Given the description of an element on the screen output the (x, y) to click on. 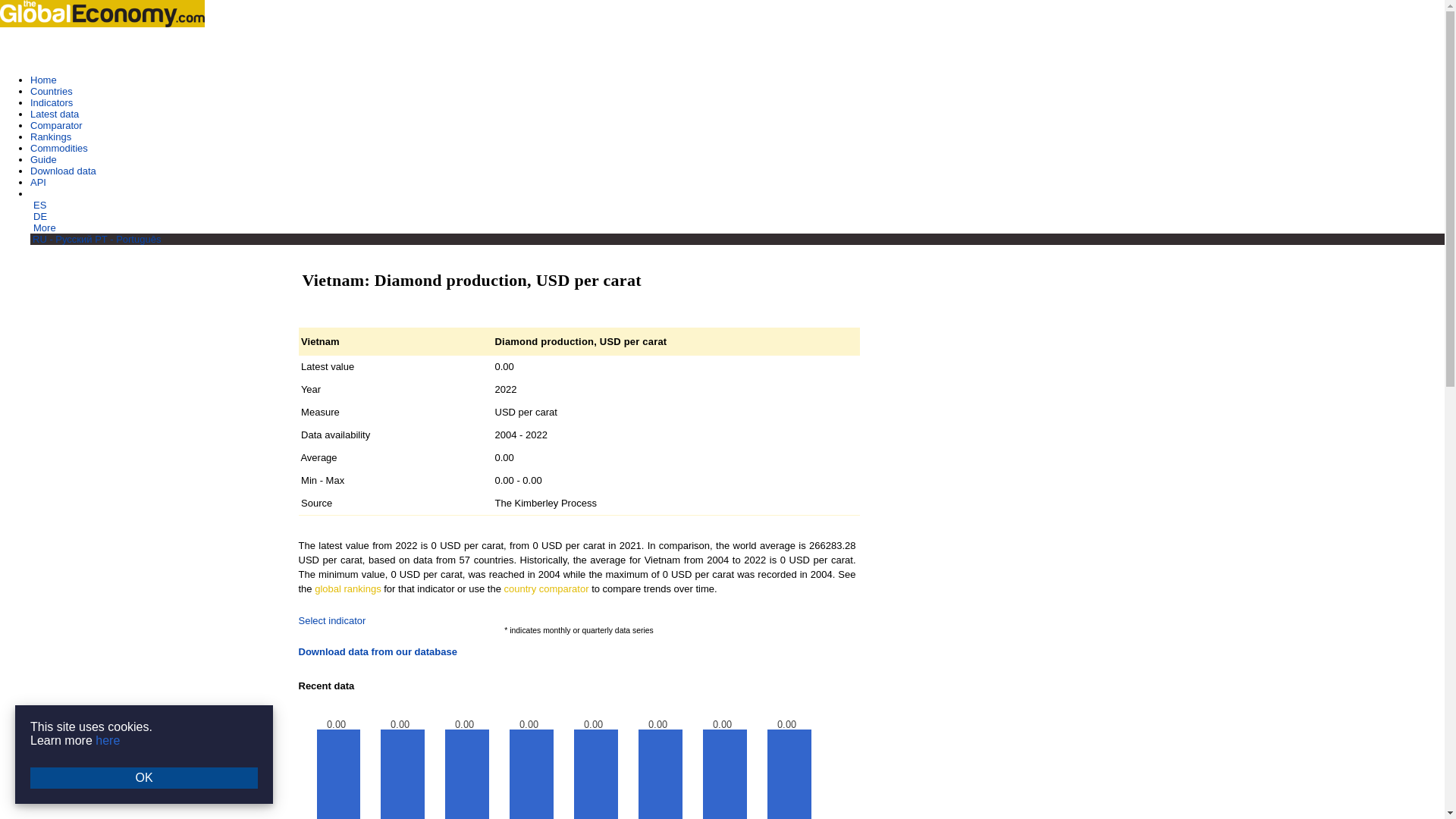
Commodities (58, 147)
Latest data (54, 113)
Home (43, 79)
Rankings (50, 136)
Download data (63, 170)
global rankings (347, 588)
Countries (51, 91)
country comparator (546, 588)
More (44, 227)
ES (39, 204)
